Given the description of an element on the screen output the (x, y) to click on. 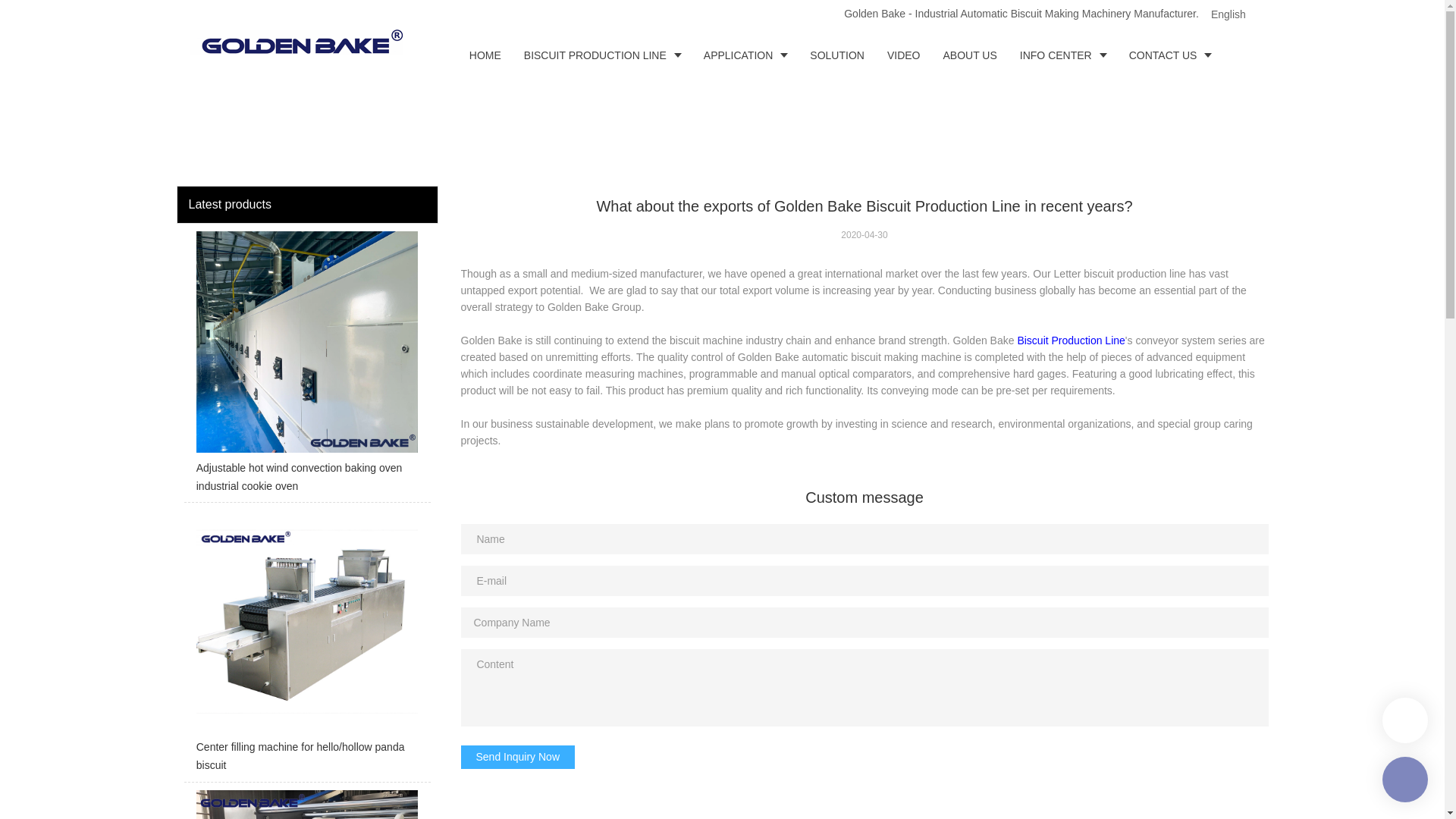
HOME (485, 55)
BISCUIT PRODUCTION LINE (602, 55)
APPLICATION (746, 55)
